Given the description of an element on the screen output the (x, y) to click on. 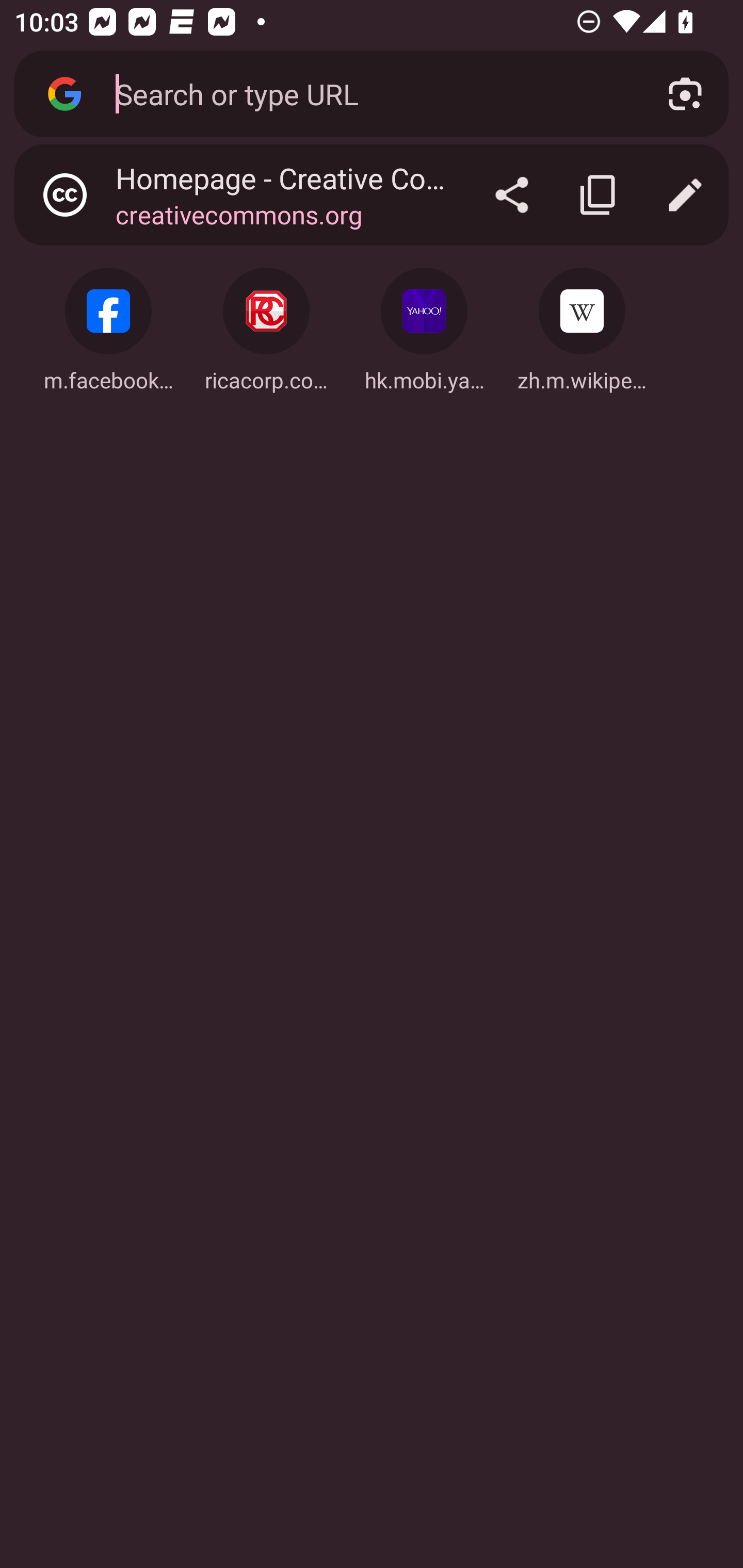
Search with your camera using Google Lens (684, 93)
Search or type URL (367, 92)
Share… (511, 195)
Copy link (598, 195)
Edit (684, 195)
